Given the description of an element on the screen output the (x, y) to click on. 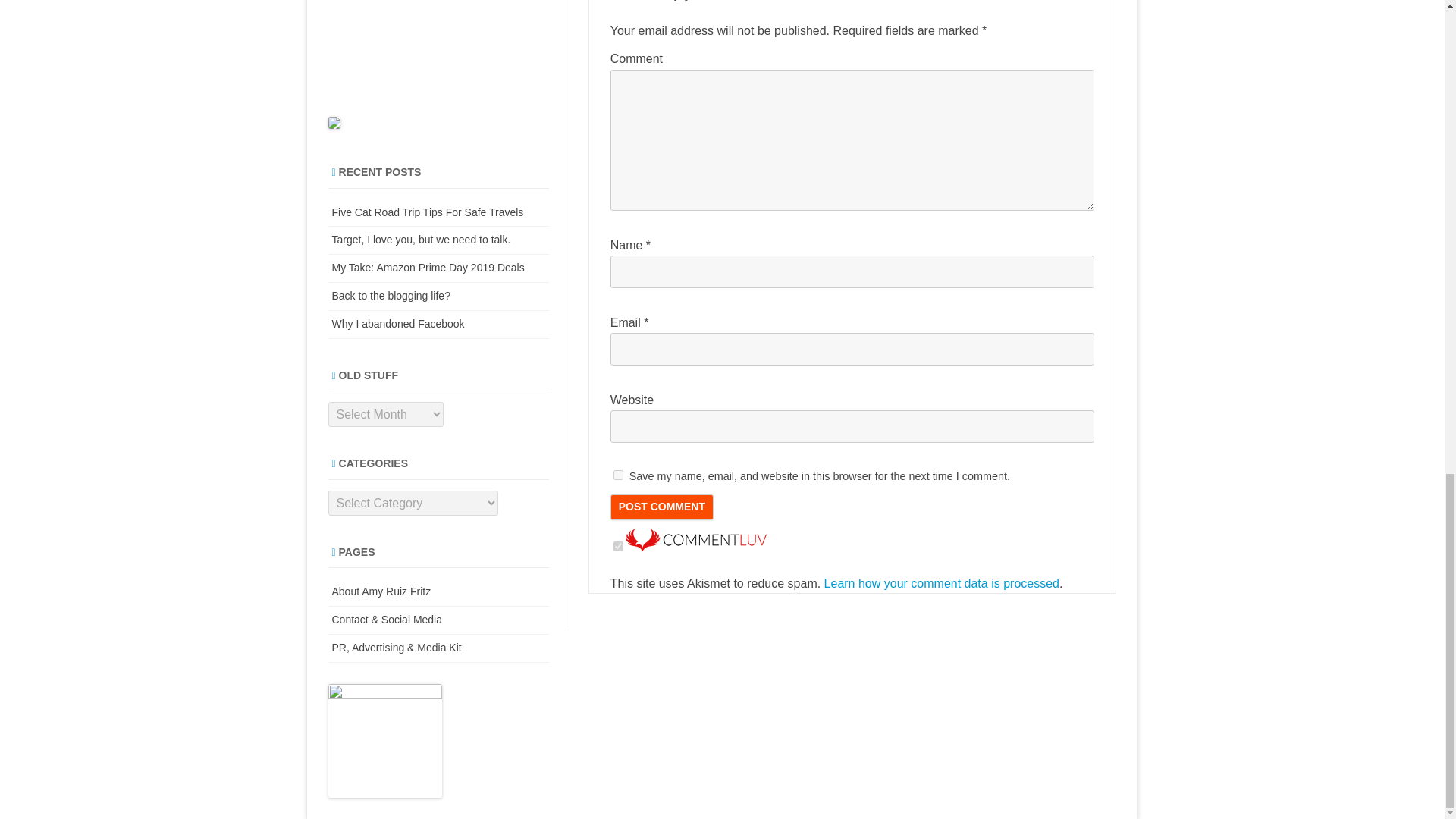
on (617, 546)
Post Comment (661, 507)
Learn how your comment data is processed (941, 583)
Post Comment (661, 507)
CommentLuv is enabled (696, 546)
yes (617, 474)
